Given the description of an element on the screen output the (x, y) to click on. 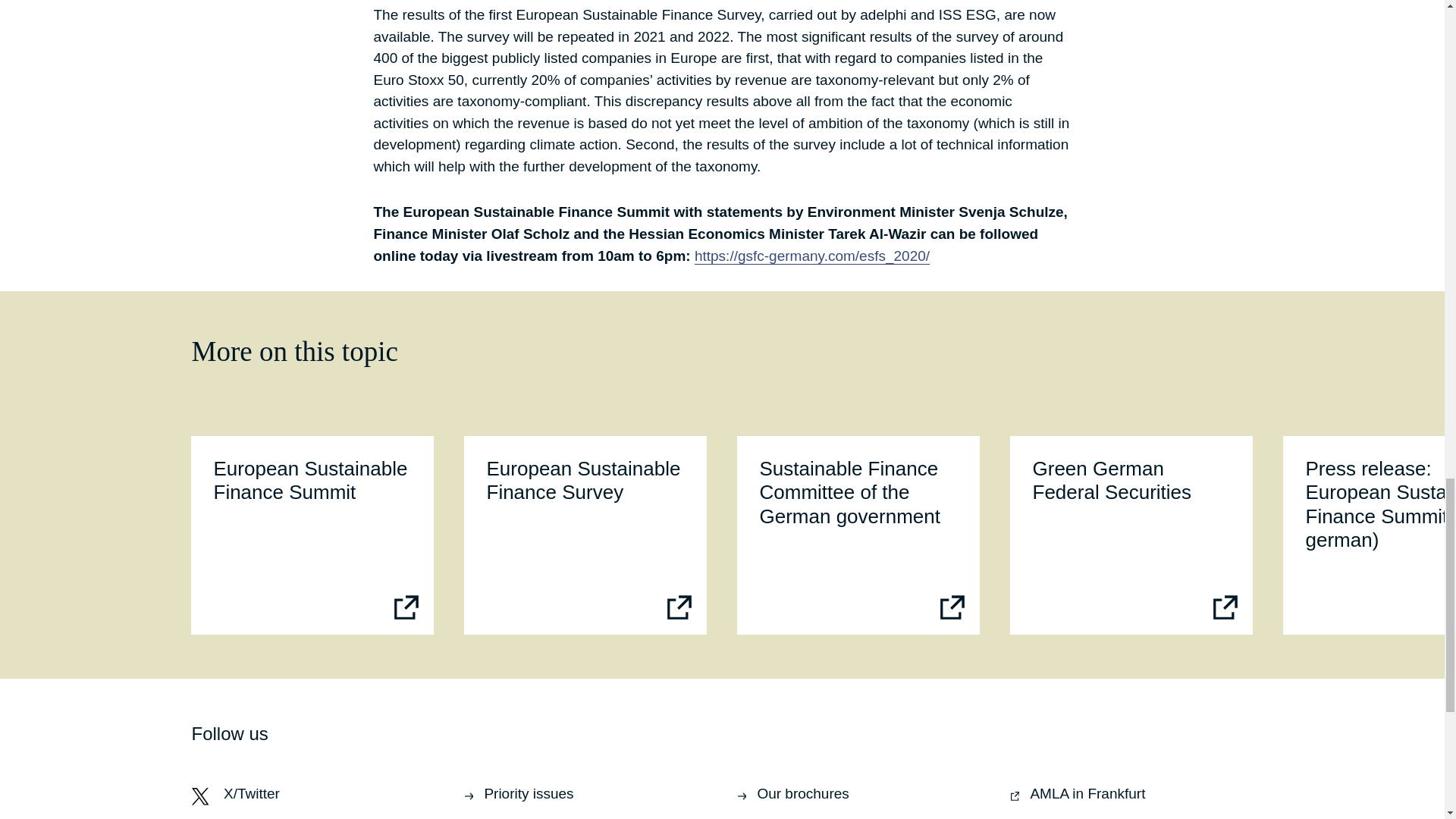
More on this topic (1131, 535)
